Given the description of an element on the screen output the (x, y) to click on. 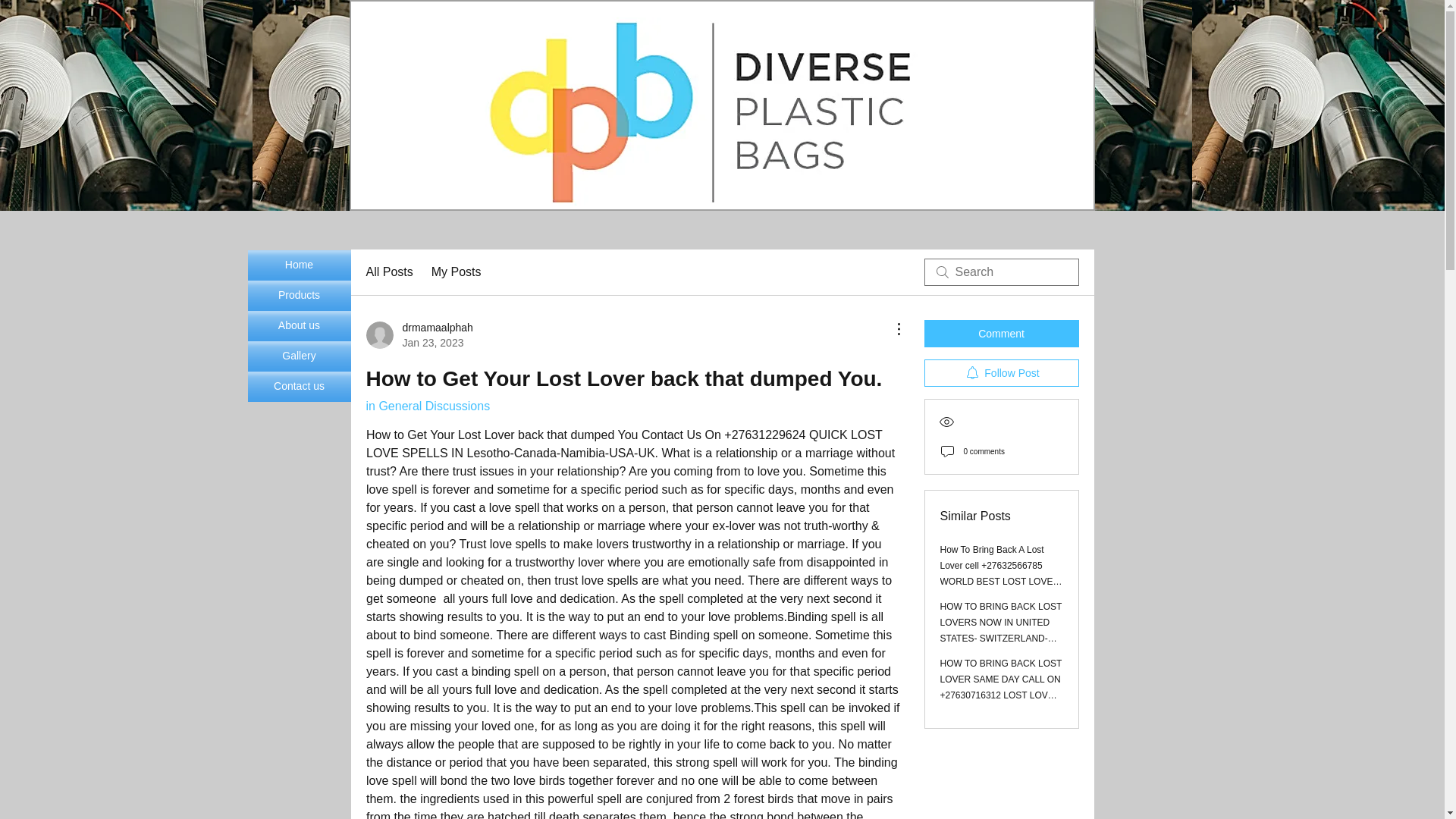
Contact us (298, 386)
Products (298, 295)
All Posts (388, 271)
Gallery (298, 356)
About us (298, 326)
dpb logo2016.jpg (702, 112)
Follow Post (1000, 372)
in General Discussions (418, 335)
My Posts (427, 405)
Home (455, 271)
Comment (298, 265)
